Given the description of an element on the screen output the (x, y) to click on. 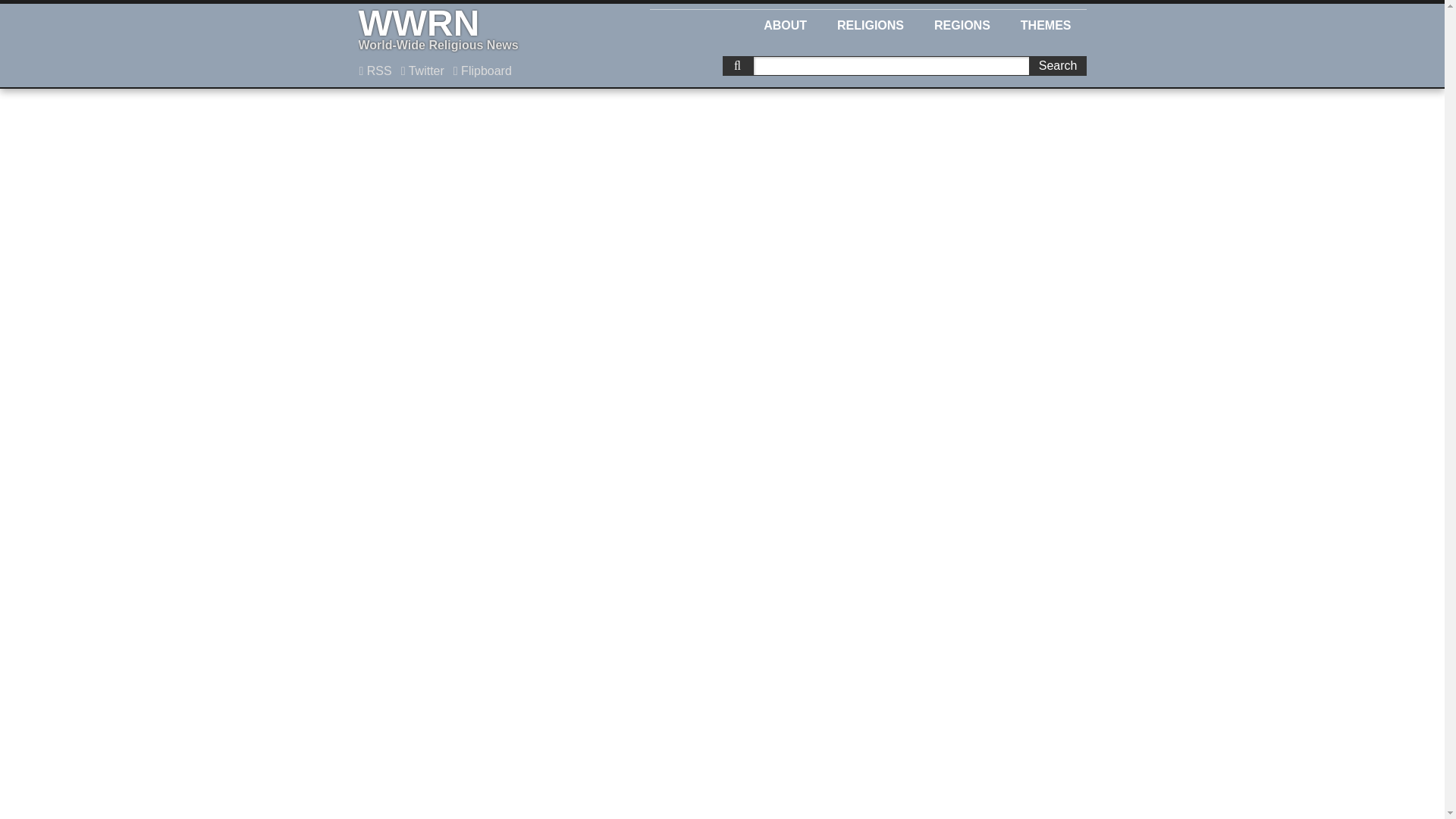
ABOUT (785, 23)
Twitter (422, 70)
THEMES (1046, 23)
RELIGIONS (870, 23)
Search (1057, 66)
RSS (374, 70)
Flipboard (482, 70)
REGIONS (962, 23)
